Given the description of an element on the screen output the (x, y) to click on. 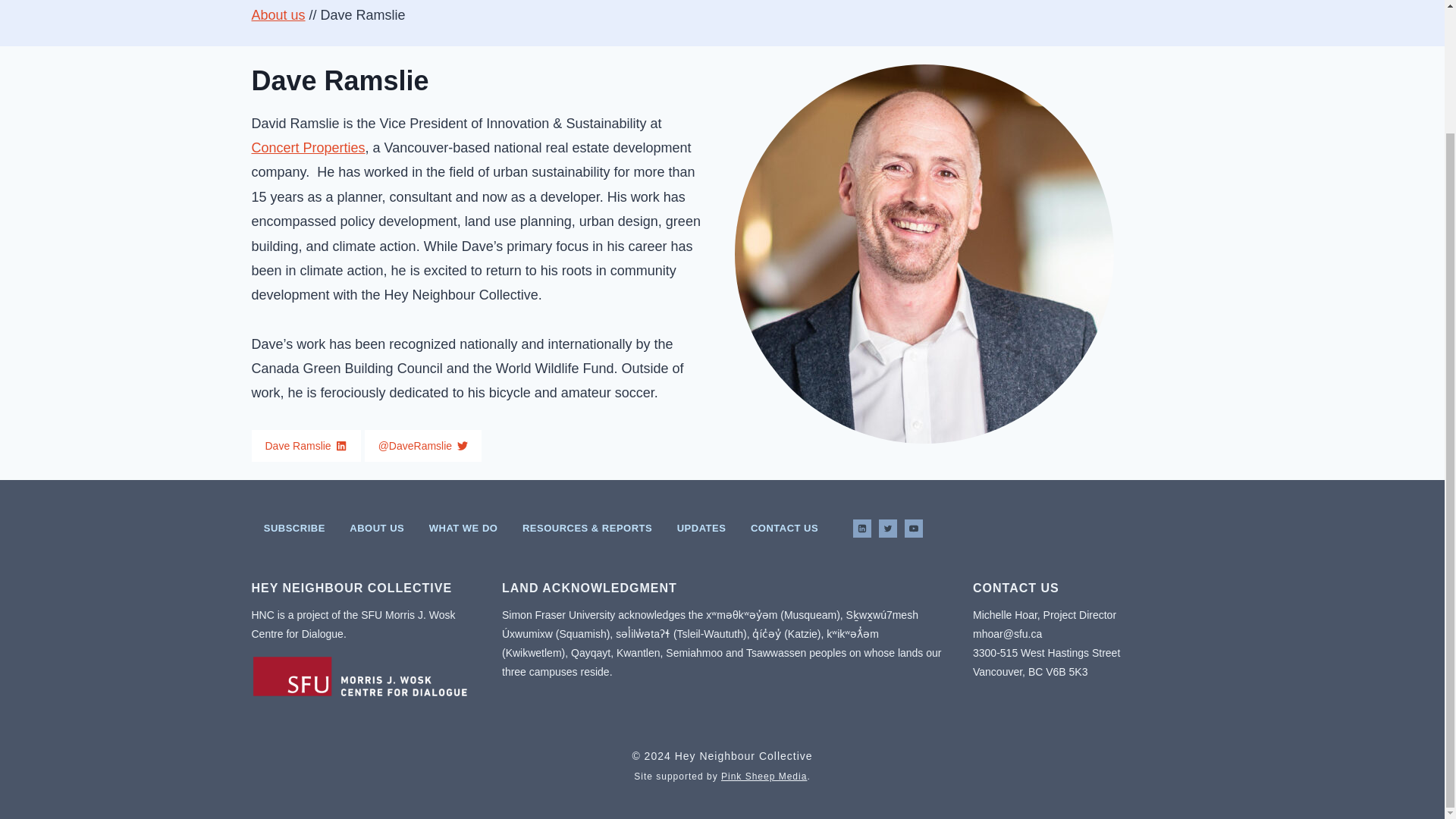
SUBSCRIBE (294, 527)
CONTACT US (784, 527)
Dave Ramslie (306, 445)
UPDATES (700, 527)
About us (278, 14)
WHAT WE DO (462, 527)
Pink Sheep Media (763, 776)
ABOUT US (376, 527)
Concert Properties (308, 147)
